Given the description of an element on the screen output the (x, y) to click on. 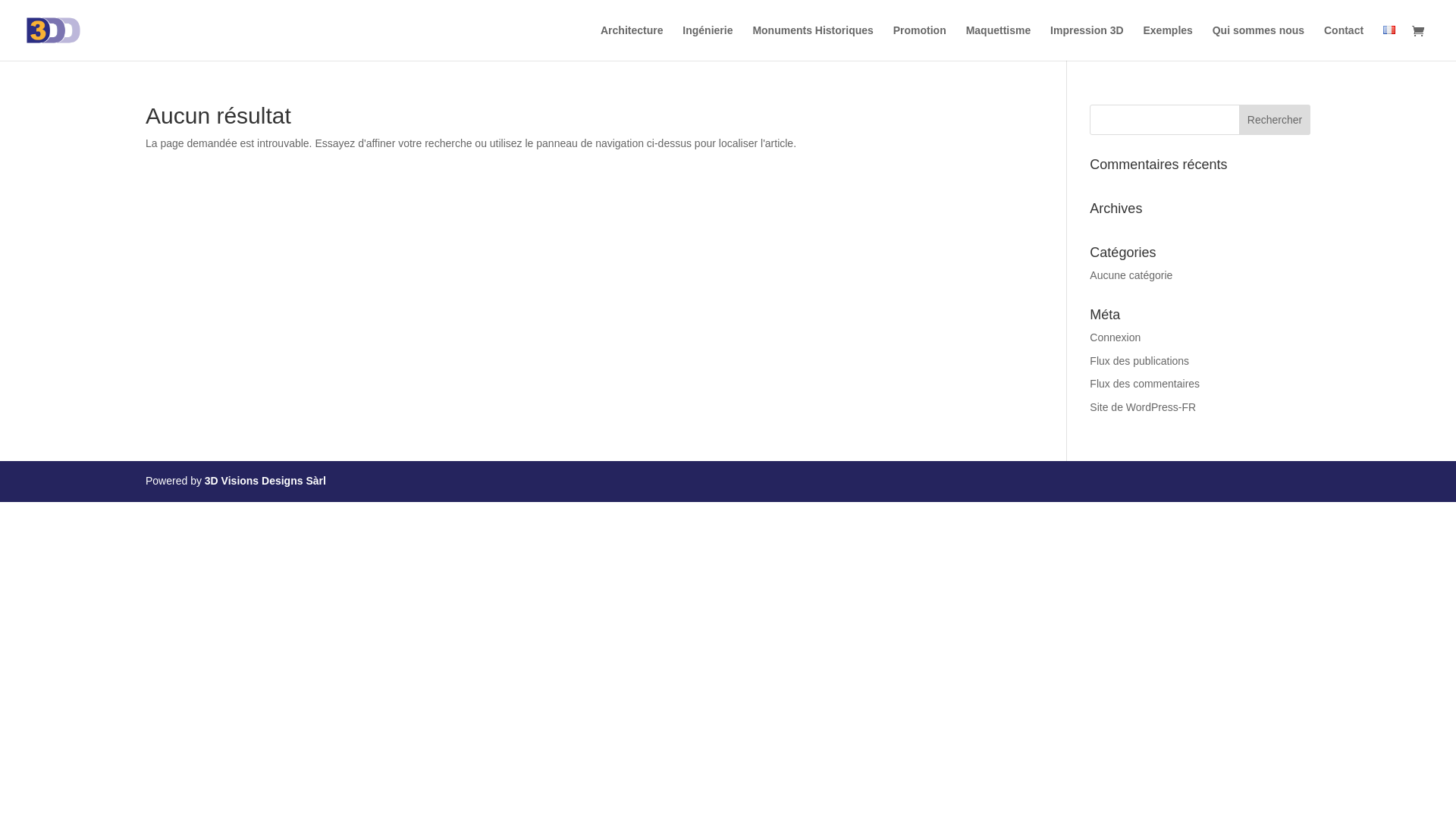
Maquettisme Element type: text (998, 42)
Promotion Element type: text (919, 42)
Exemples Element type: text (1167, 42)
Connexion Element type: text (1114, 337)
Site de WordPress-FR Element type: text (1142, 407)
Architecture Element type: text (631, 42)
Impression 3D Element type: text (1086, 42)
Qui sommes nous Element type: text (1258, 42)
Contact Element type: text (1343, 42)
Monuments Historiques Element type: text (812, 42)
Flux des publications Element type: text (1139, 360)
Flux des commentaires Element type: text (1144, 383)
Rechercher Element type: text (1274, 119)
